Given the description of an element on the screen output the (x, y) to click on. 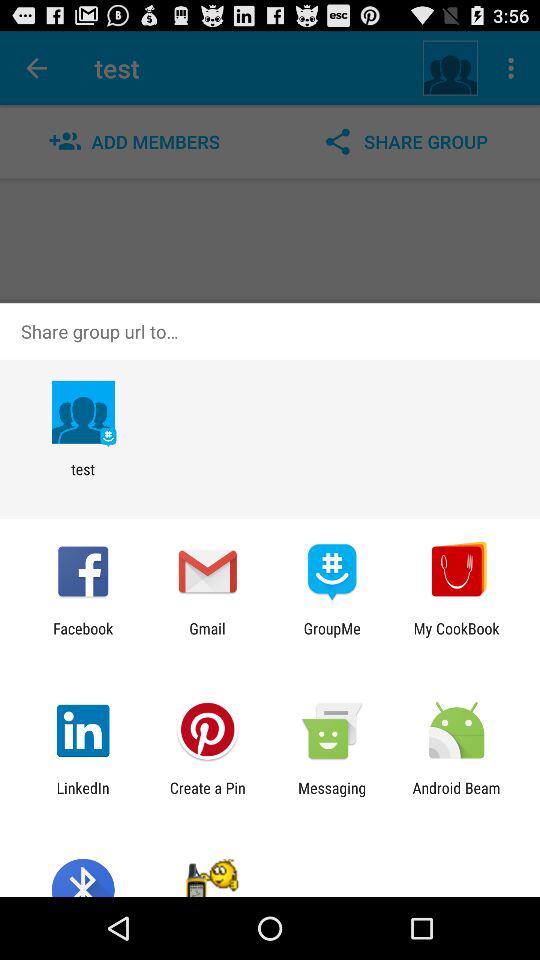
tap the app to the left of the android beam app (332, 796)
